Given the description of an element on the screen output the (x, y) to click on. 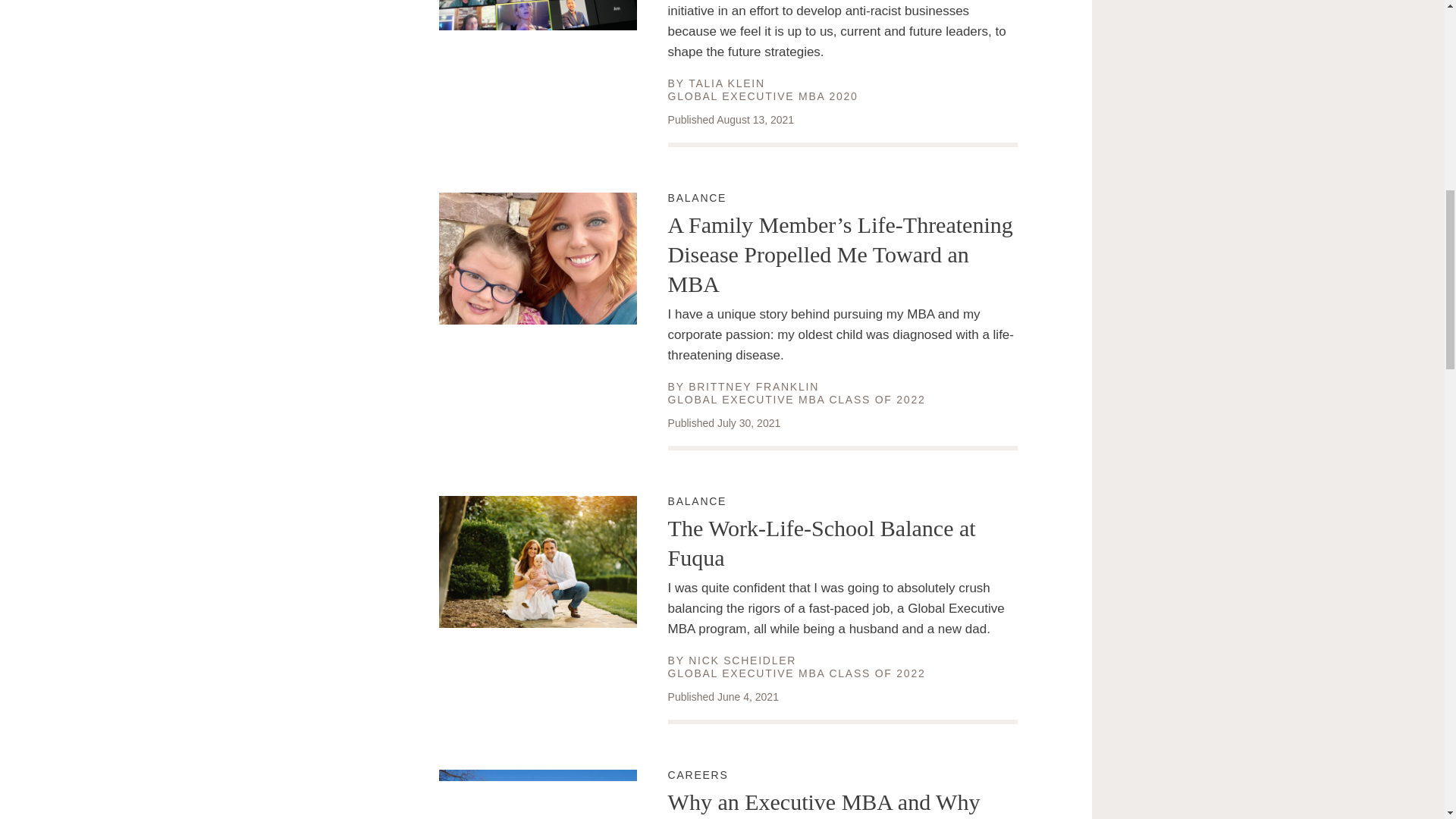
The Work-Life-School Balance at Fuqua (842, 501)
